Given the description of an element on the screen output the (x, y) to click on. 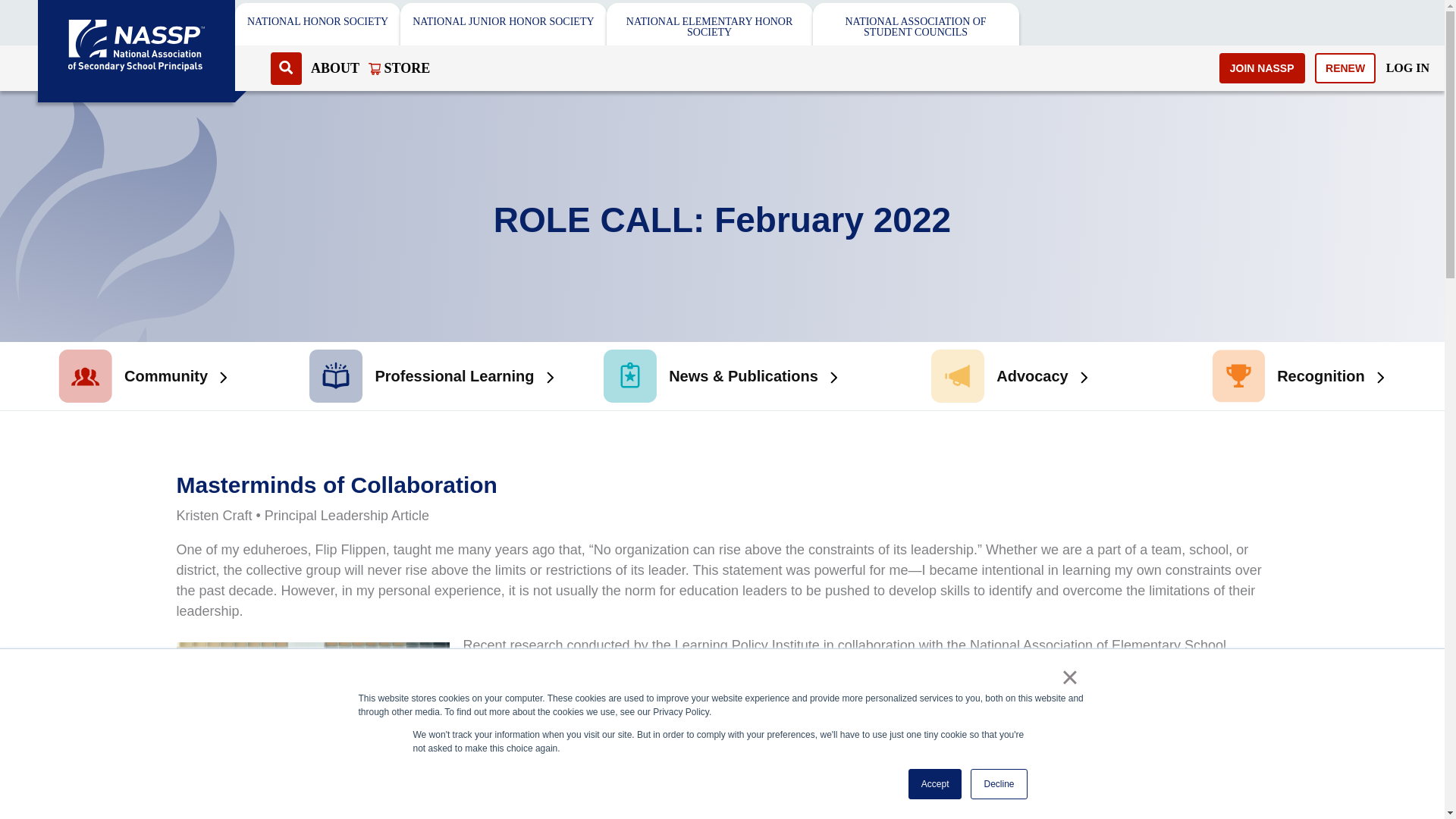
LOG IN (1407, 67)
NATIONAL ASSOCIATION OF STUDENT COUNCILS (916, 26)
NATIONAL JUNIOR HONOR SOCIETY (503, 21)
Decline (998, 784)
NATIONAL HONOR SOCIETY (317, 21)
JOIN NASSP (1262, 68)
NATIONAL ELEMENTARY HONOR SOCIETY (709, 26)
STORE (398, 67)
ABOUT (335, 67)
Accept (935, 784)
RENEW (1344, 68)
